Given the description of an element on the screen output the (x, y) to click on. 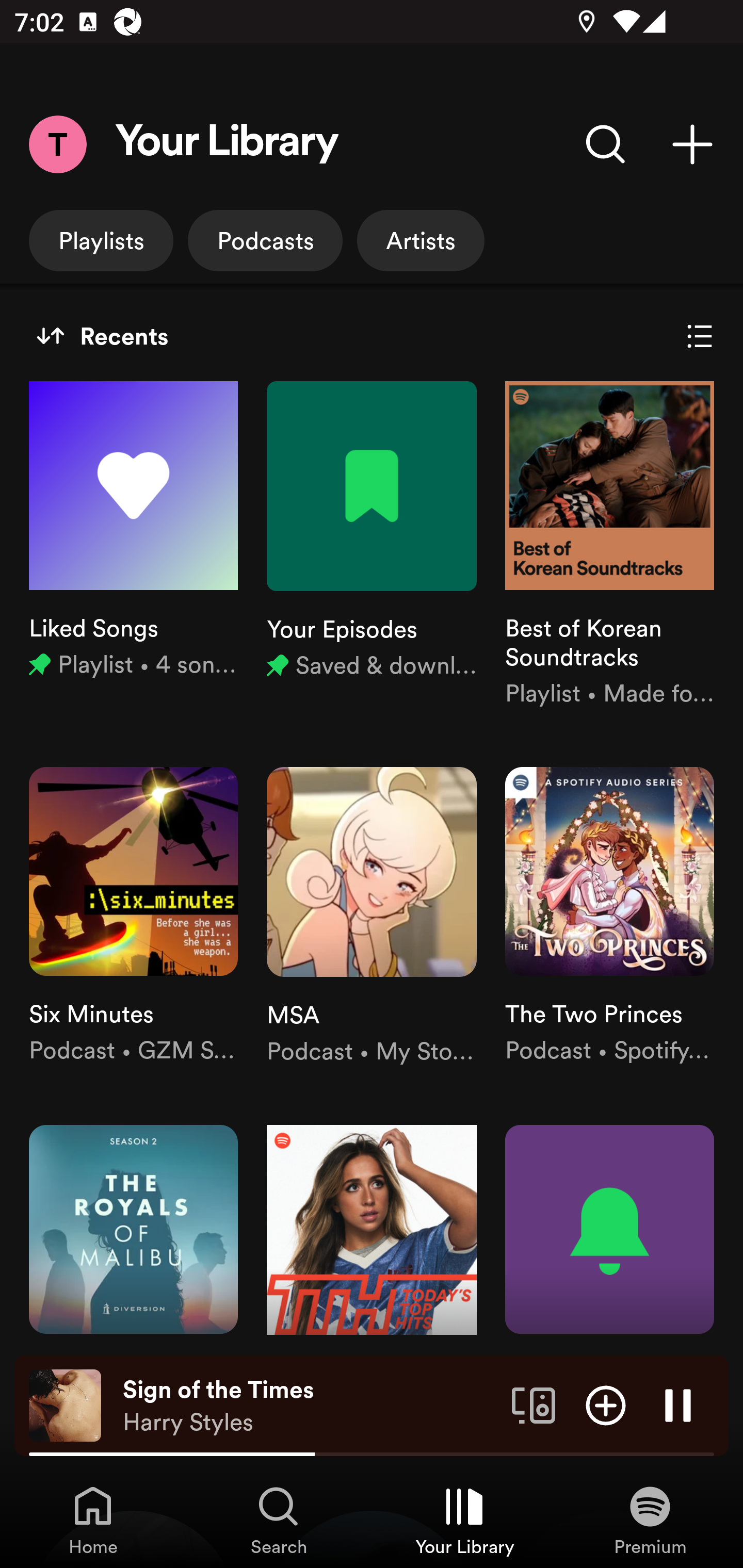
Menu (57, 144)
Search Your Library (605, 144)
Create playlist (692, 144)
Your Library Your Library Heading (226, 144)
Playlists, show only playlists. (100, 240)
Podcasts, show only podcasts. (264, 240)
Artists, show only artists. (420, 240)
Recents (101, 336)
Show List view (699, 336)
Sign of the Times Harry Styles (309, 1405)
The cover art of the currently playing track (64, 1404)
Connect to a device. Opens the devices menu (533, 1404)
Add item (605, 1404)
Pause (677, 1404)
Home, Tab 1 of 4 Home Home (92, 1519)
Search, Tab 2 of 4 Search Search (278, 1519)
Your Library, Tab 3 of 4 Your Library Your Library (464, 1519)
Premium, Tab 4 of 4 Premium Premium (650, 1519)
BLACKPINK, Artist,  (132, 1538)
